Given the description of an element on the screen output the (x, y) to click on. 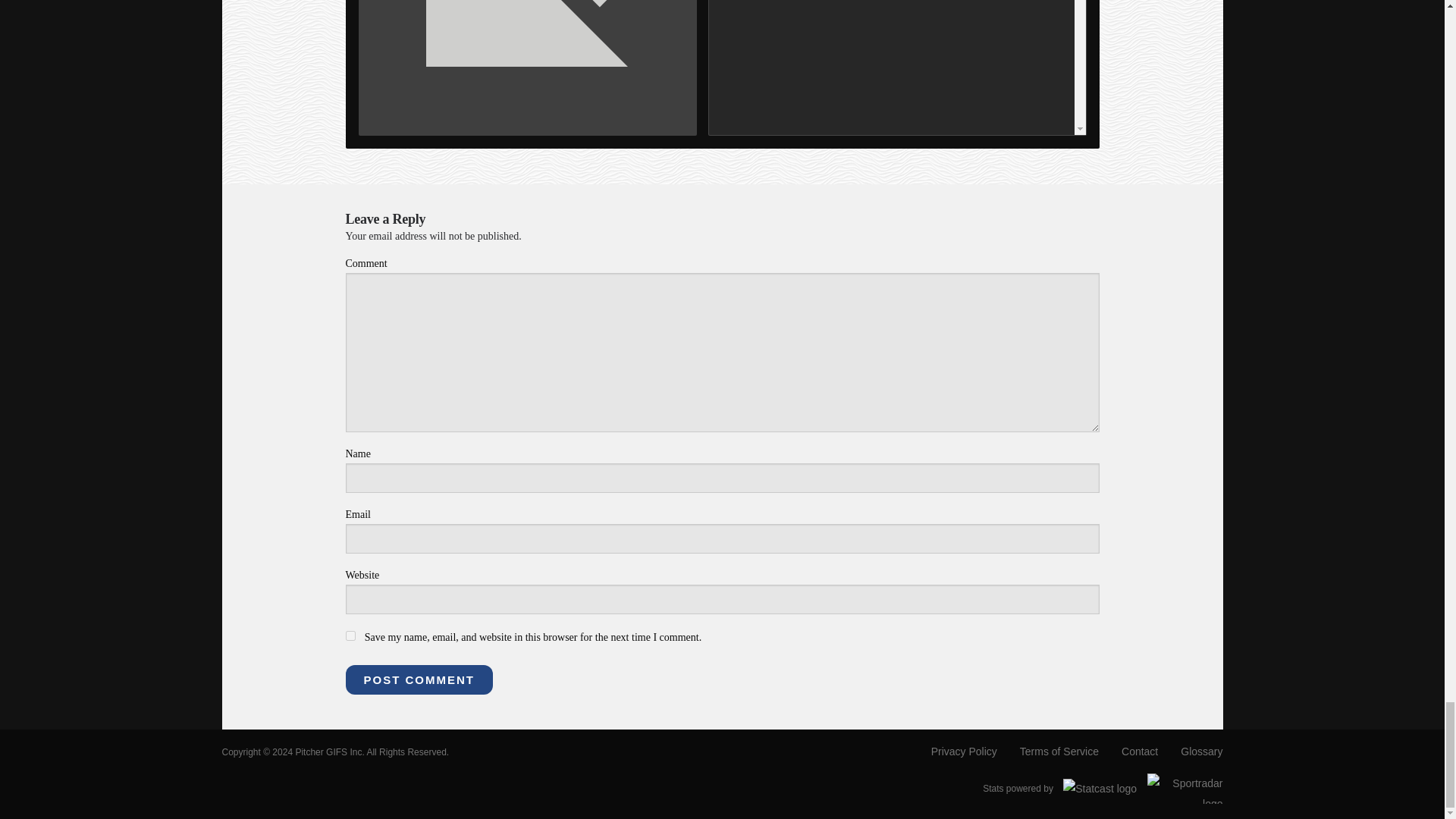
Post Comment (419, 679)
yes (350, 635)
